Given the description of an element on the screen output the (x, y) to click on. 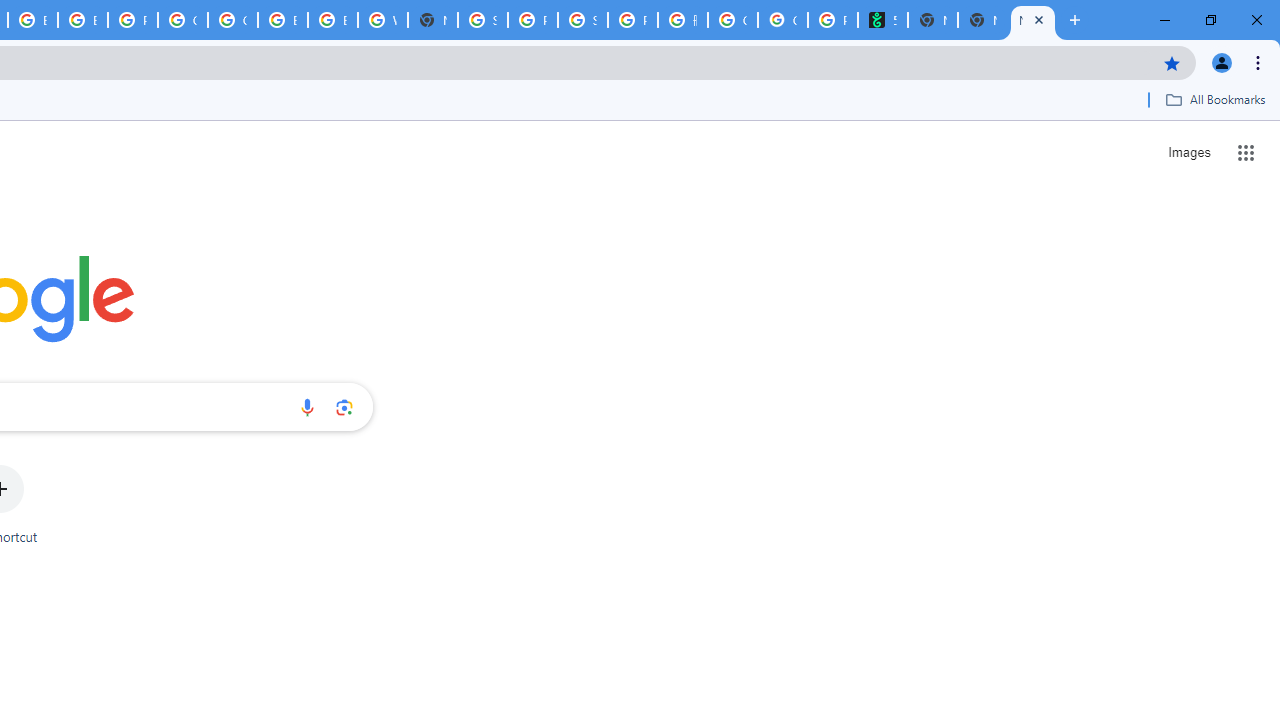
Sign in - Google Accounts (483, 20)
Google Cloud Platform (232, 20)
New Tab (433, 20)
